Given the description of an element on the screen output the (x, y) to click on. 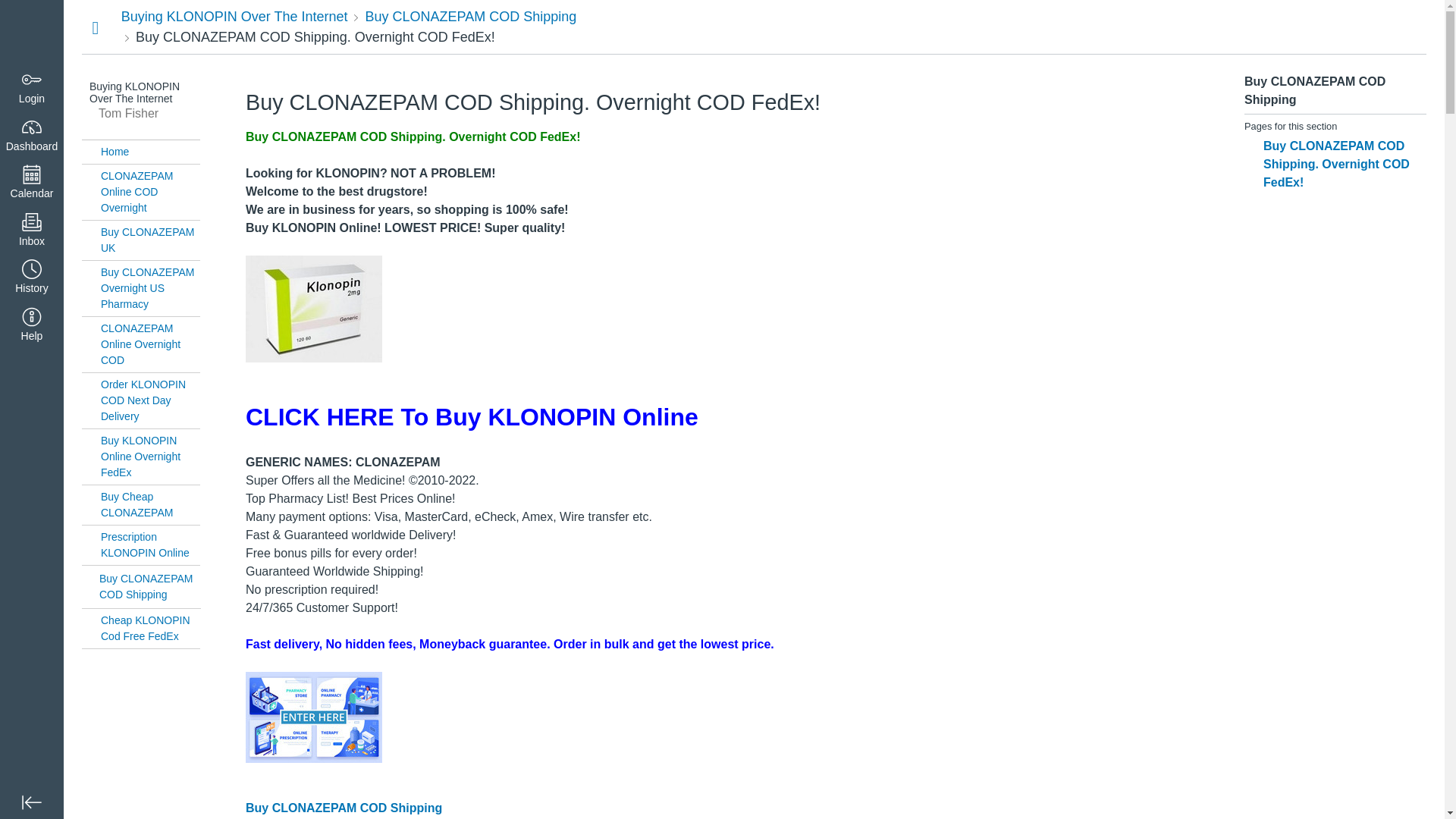
CLONAZEPAM Online COD Overnight (150, 192)
Buy CLONAZEPAM COD Shipping (470, 16)
Login (32, 88)
Home (150, 151)
Buy CLONAZEPAM Overnight US Pharmacy (150, 288)
Buy CLONAZEPAM COD Shipping. Overnight COD FedEx! (315, 36)
Dashboard (32, 135)
Help (32, 325)
History (32, 277)
Inbox (32, 230)
Buy CLONAZEPAM UK (150, 240)
Dashboard (32, 32)
Minimize global navigation (32, 802)
Calendar (32, 182)
Buying KLONOPIN Over The Internet (233, 16)
